Given the description of an element on the screen output the (x, y) to click on. 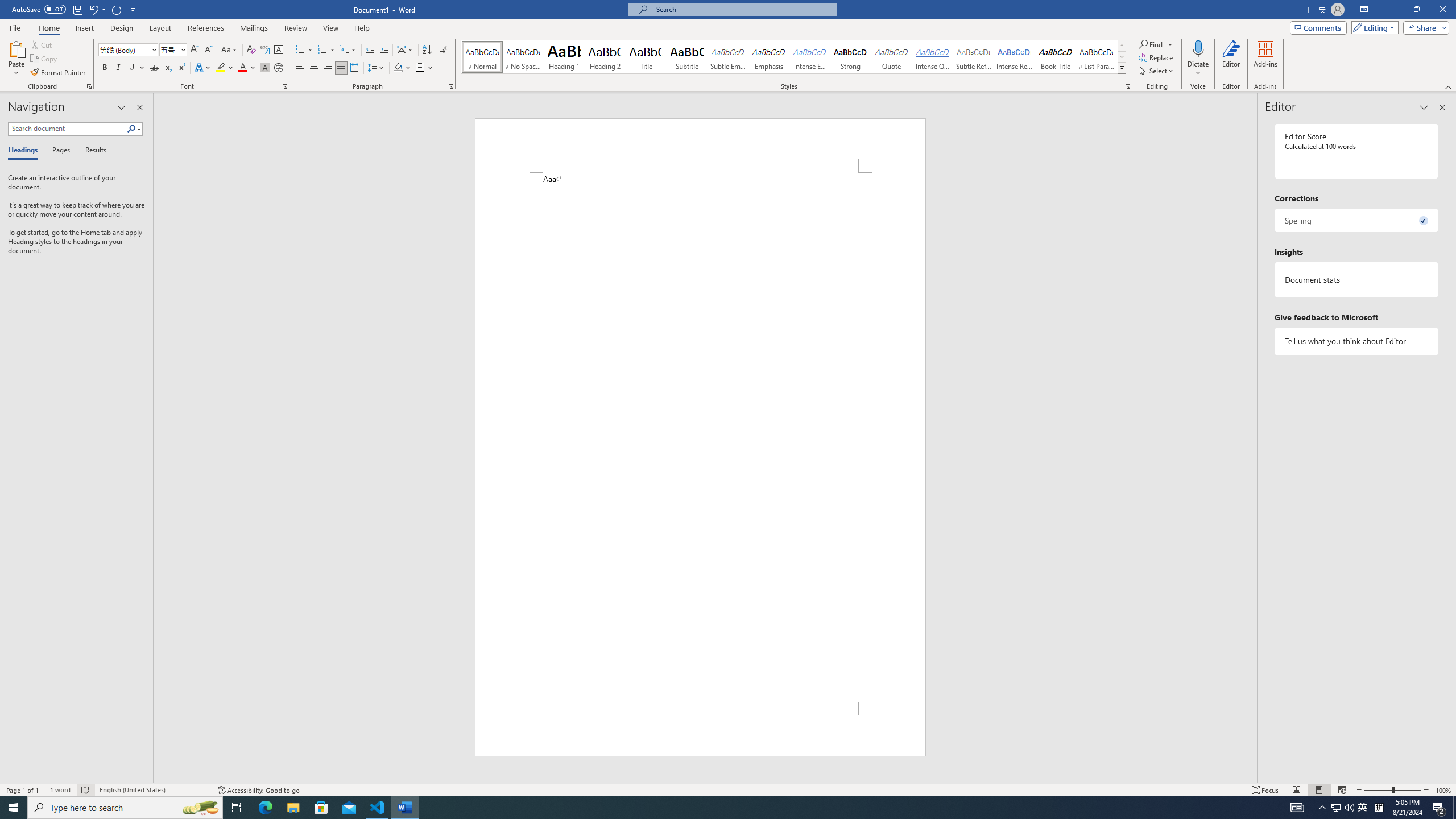
Subtle Emphasis (727, 56)
Spelling, 0 issues. Press space or enter to review items. (1356, 219)
Spelling and Grammar Check No Errors (85, 790)
Tell us what you think about Editor (1356, 341)
